Given the description of an element on the screen output the (x, y) to click on. 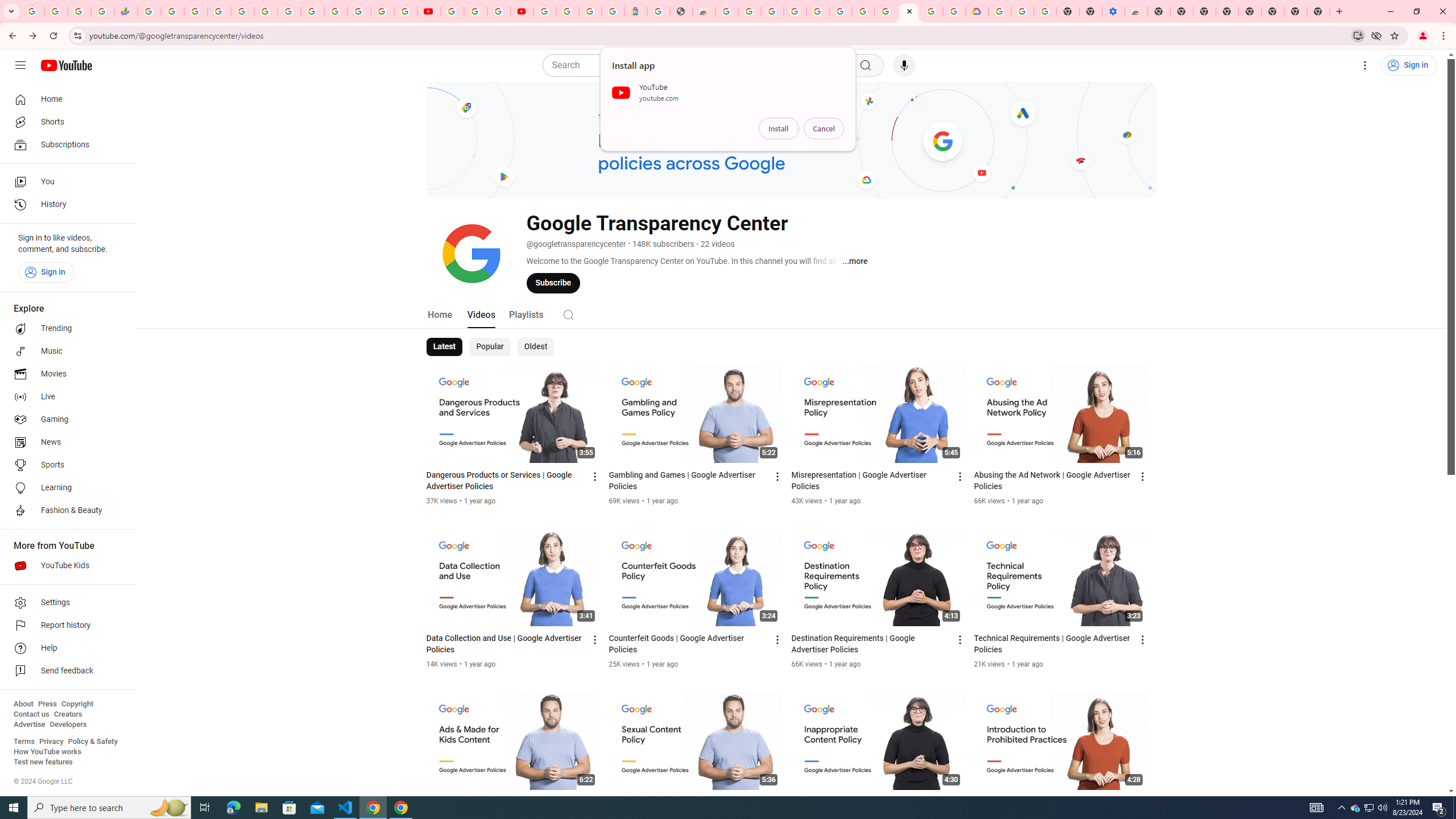
YouTube (428, 11)
Report history (64, 625)
Sign in - Google Accounts (381, 11)
Subscriptions (64, 144)
Contact us (31, 714)
How YouTube works (47, 751)
